Given the description of an element on the screen output the (x, y) to click on. 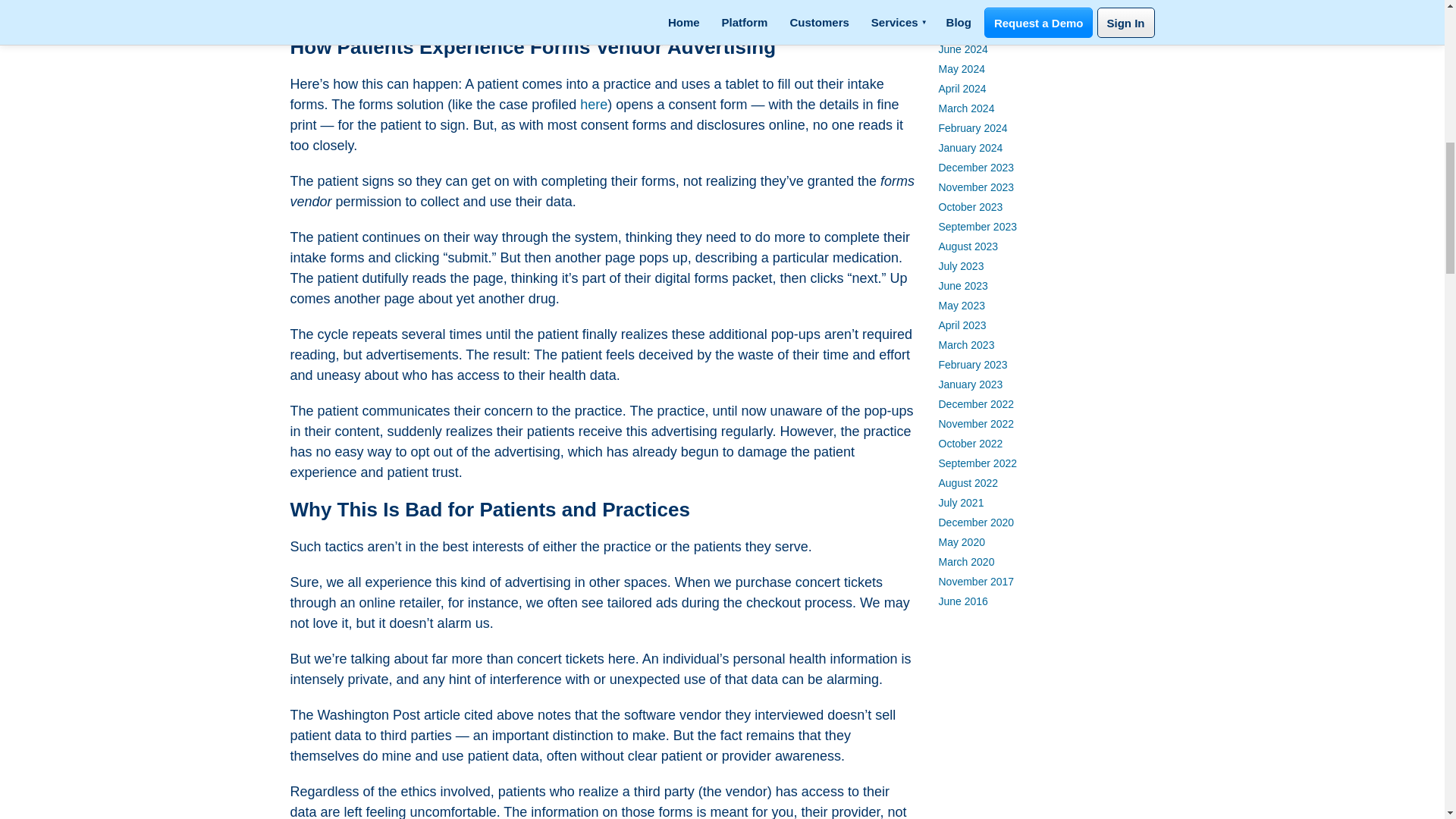
here (593, 104)
